Given the description of an element on the screen output the (x, y) to click on. 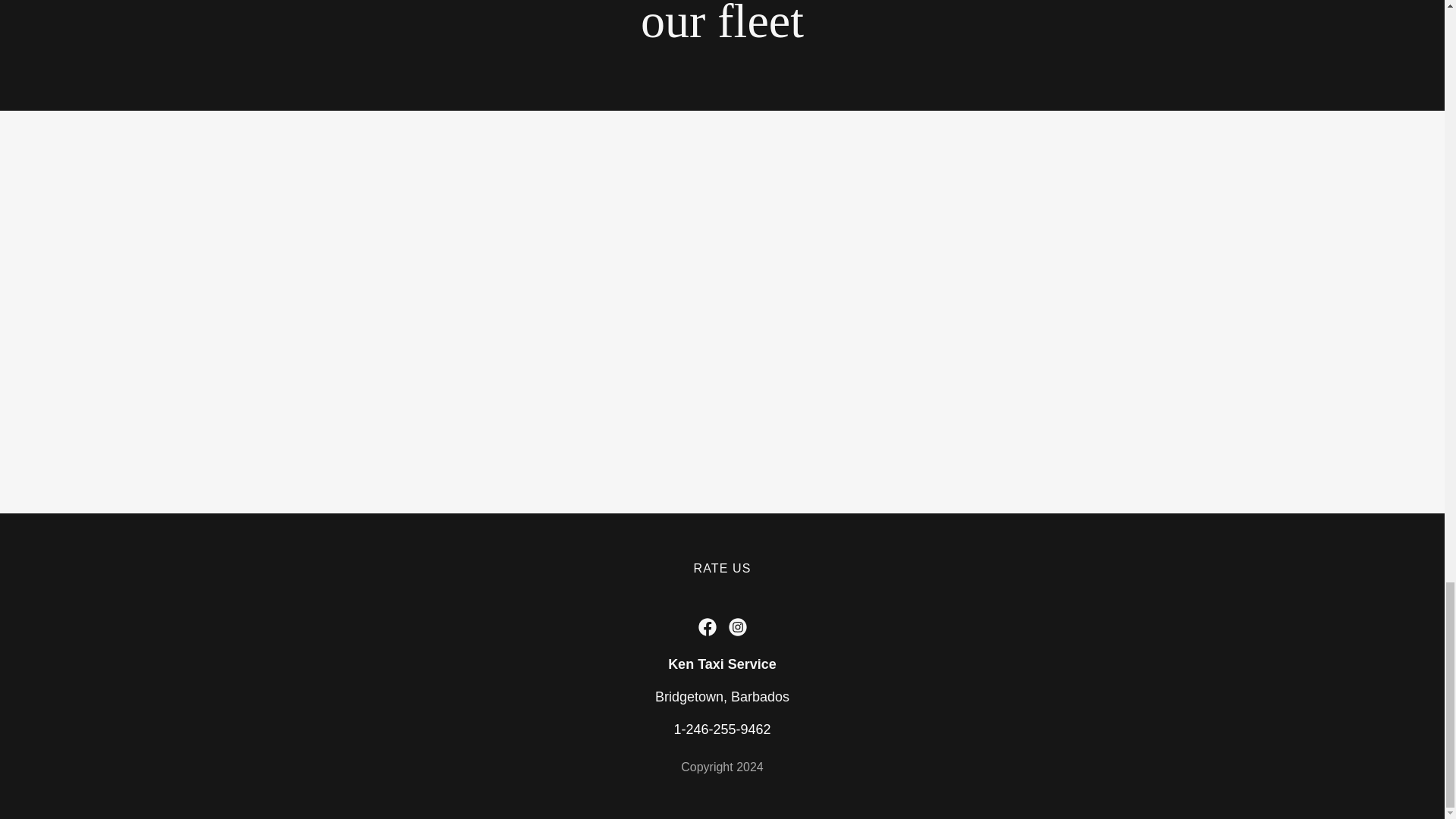
RATE US (722, 568)
